Given the description of an element on the screen output the (x, y) to click on. 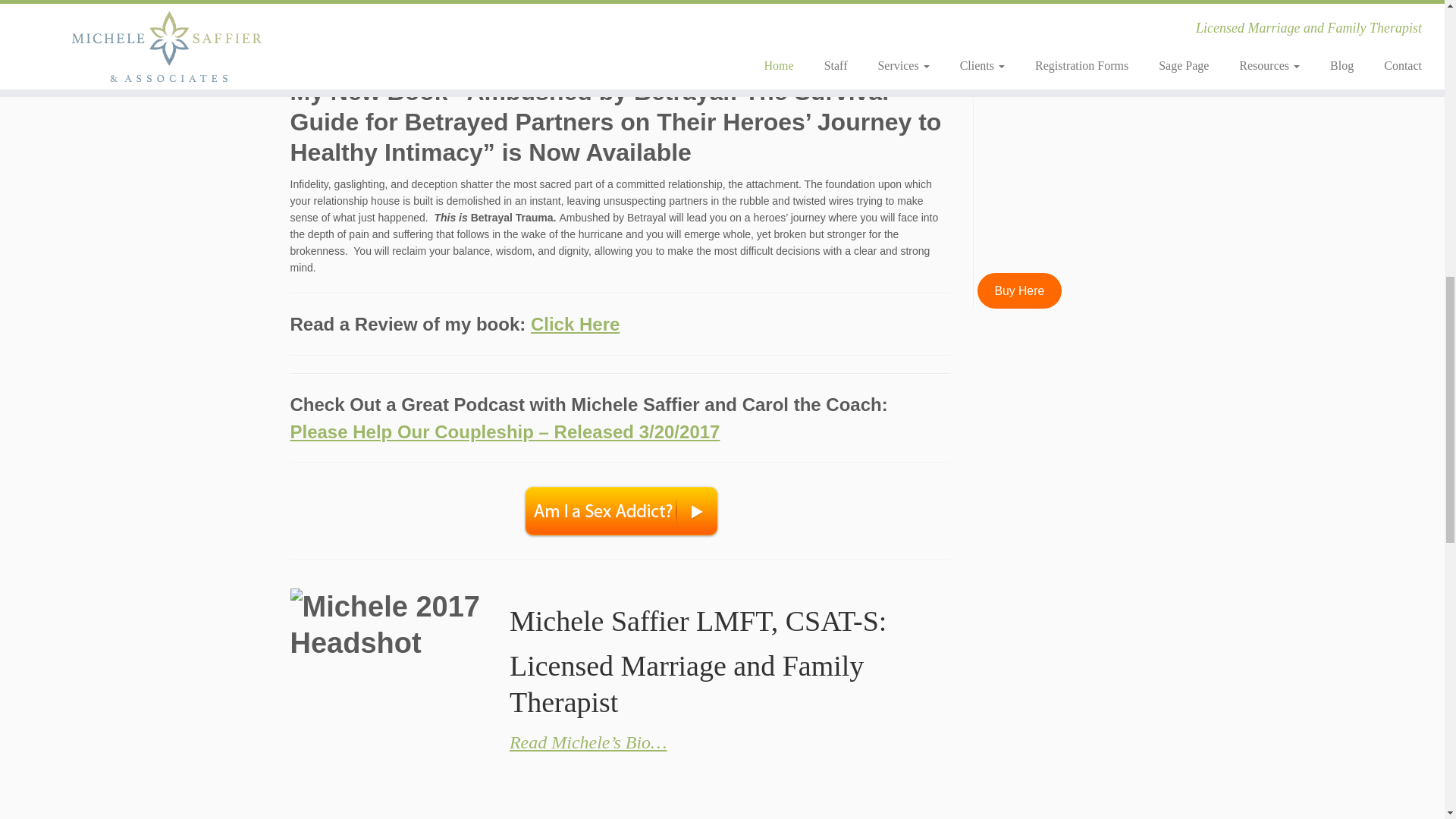
Click Here (575, 323)
Buy Here (1018, 290)
